Given the description of an element on the screen output the (x, y) to click on. 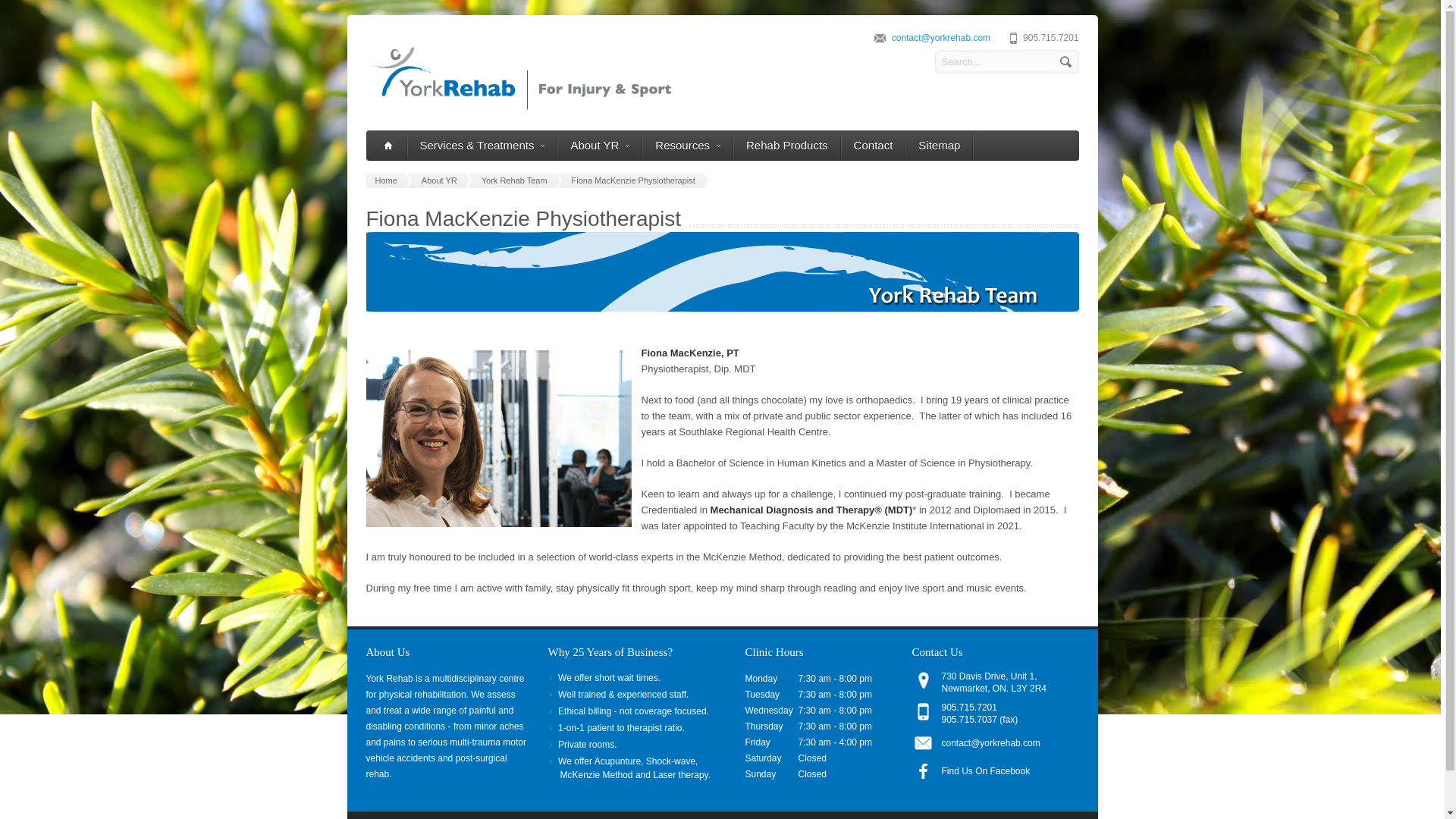
Fiona MacKenzie Physiotherapist (636, 180)
About YR (599, 145)
About YR (441, 180)
York Rehab Team (516, 180)
Search... (1006, 61)
